Given the description of an element on the screen output the (x, y) to click on. 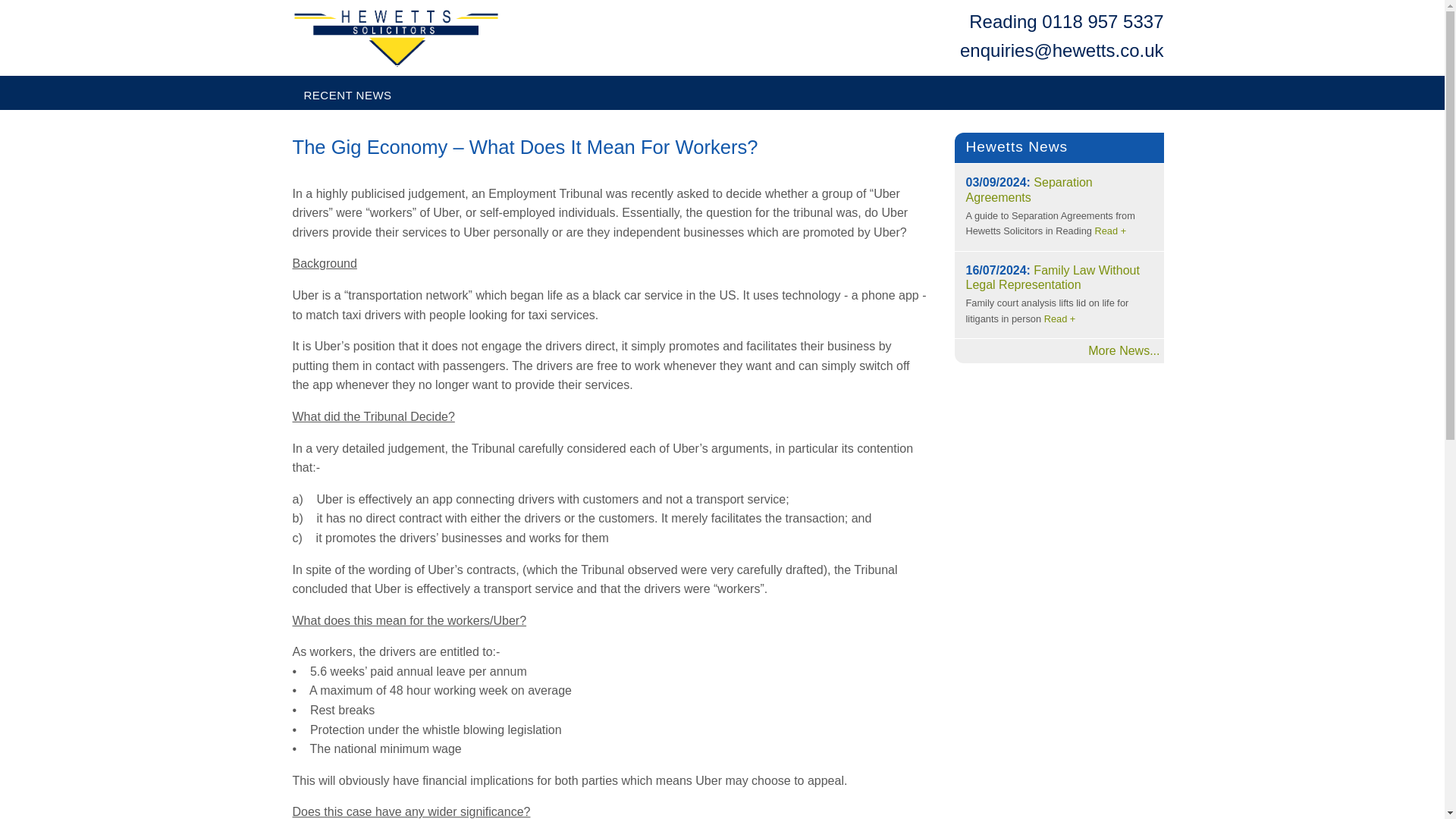
SERVICES FOR INDIVIDUALS (470, 68)
HOME (320, 68)
SERVICES FOR BUSINESS (691, 68)
Return to the Hewetts Solicitors Homepage (320, 68)
Return to the Hewetts Solicitors Homepage (395, 37)
